Given the description of an element on the screen output the (x, y) to click on. 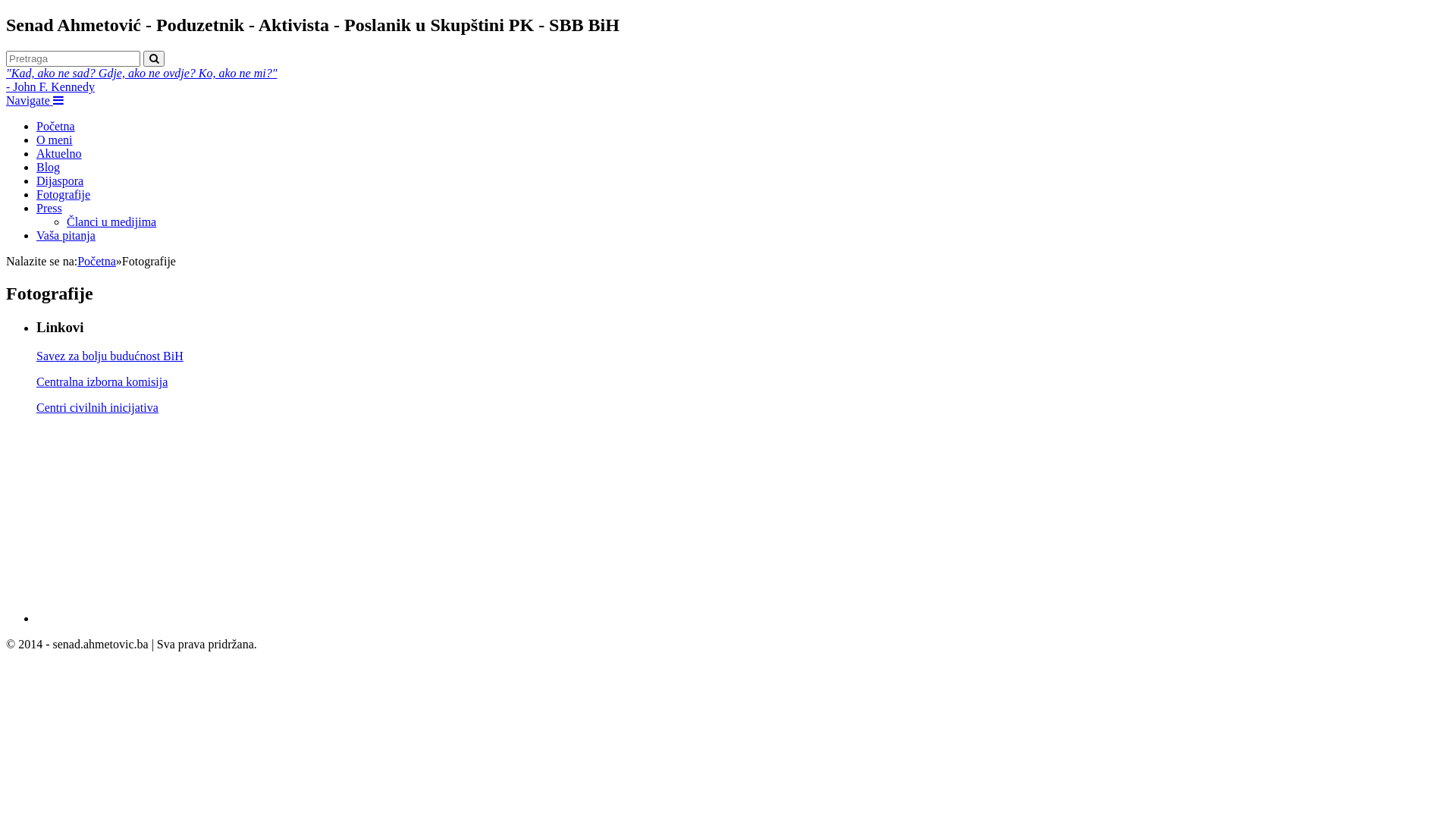
Press Element type: text (49, 207)
O meni Element type: text (54, 139)
Navigate Element type: text (34, 100)
Aktuelno Element type: text (58, 153)
Dijaspora Element type: text (59, 180)
Centralna izborna komisija Element type: text (101, 381)
Blog Element type: text (47, 166)
Fotografije Element type: text (63, 194)
Centri civilnih inicijativa Element type: text (97, 407)
